Given the description of an element on the screen output the (x, y) to click on. 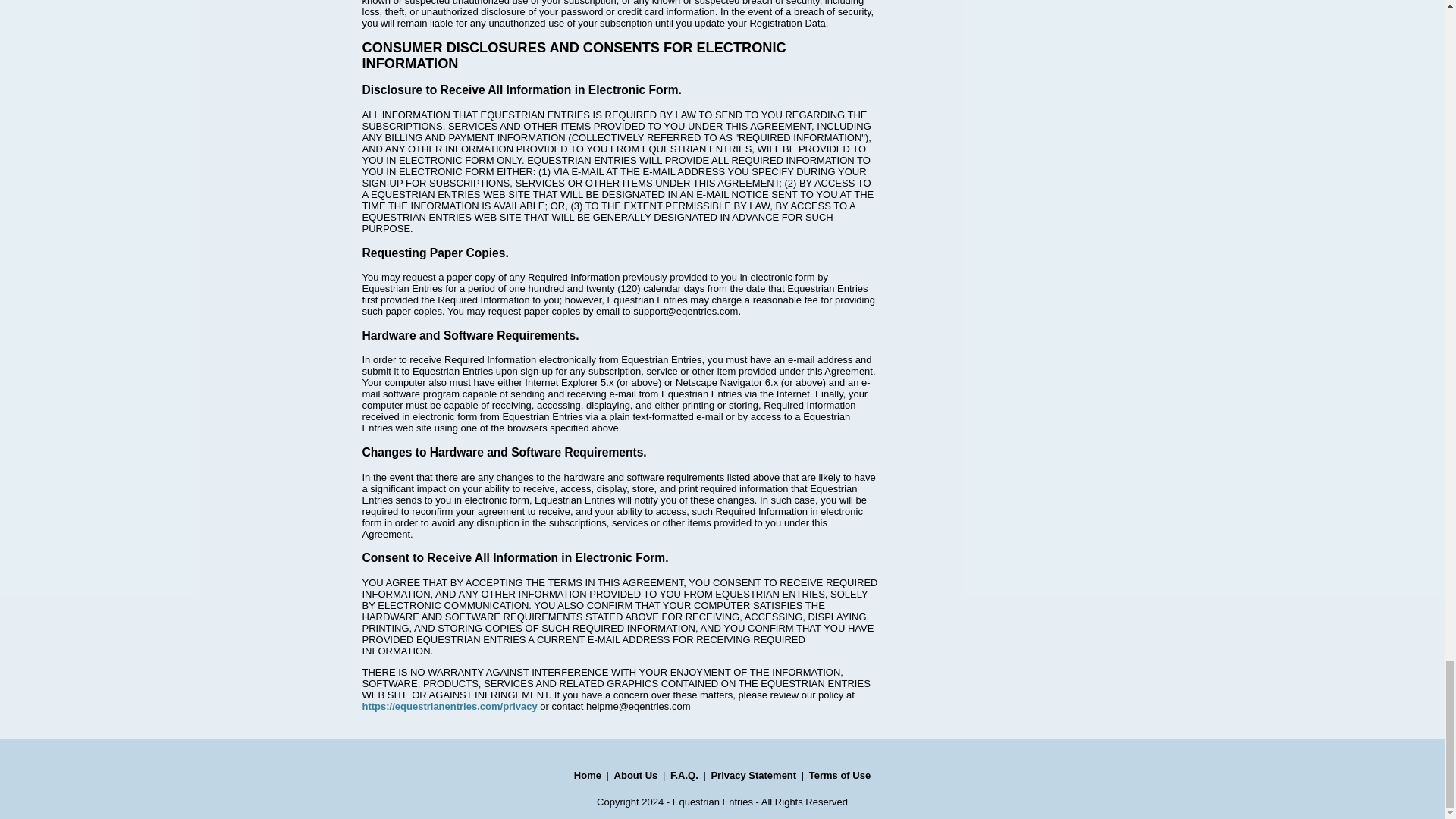
Terms of Use (839, 775)
Home (587, 775)
About Us (636, 775)
Privacy Statement (753, 775)
F.A.Q. (683, 775)
